Given the description of an element on the screen output the (x, y) to click on. 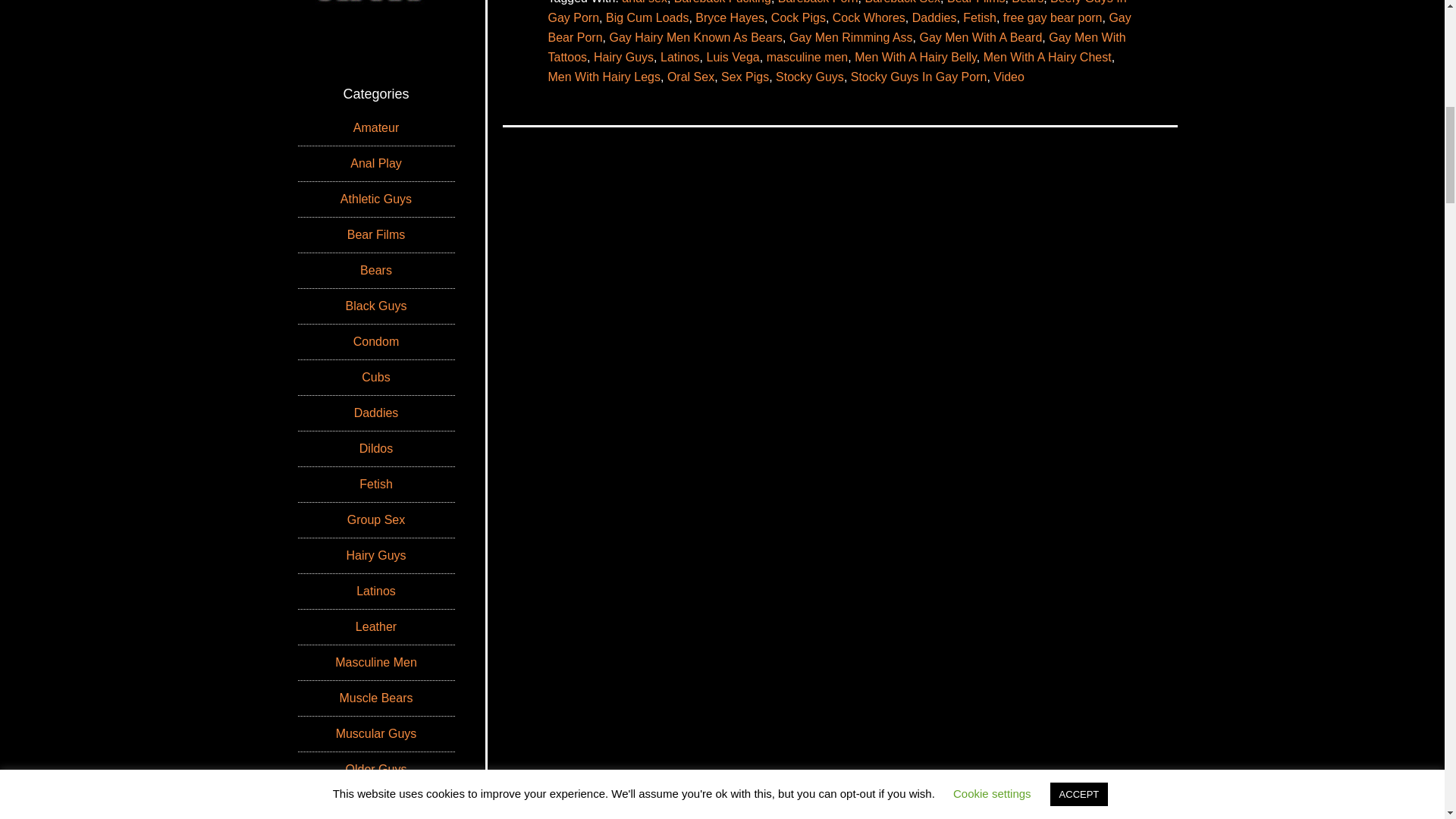
Hairy Guys (623, 56)
Fetish (978, 17)
Men With A Hairy Chest (1048, 56)
free gay bear porn (1052, 17)
Big Cum Loads (646, 17)
Bryce Hayes (729, 17)
Bareback Sex (902, 2)
Gay Hairy Men Known As Bears (695, 37)
Latinos (680, 56)
anal sex (643, 2)
masculine men (807, 56)
Gay Men With A Beard (980, 37)
Luis Vega (732, 56)
Oral Sex (690, 76)
Bareback Porn (818, 2)
